Given the description of an element on the screen output the (x, y) to click on. 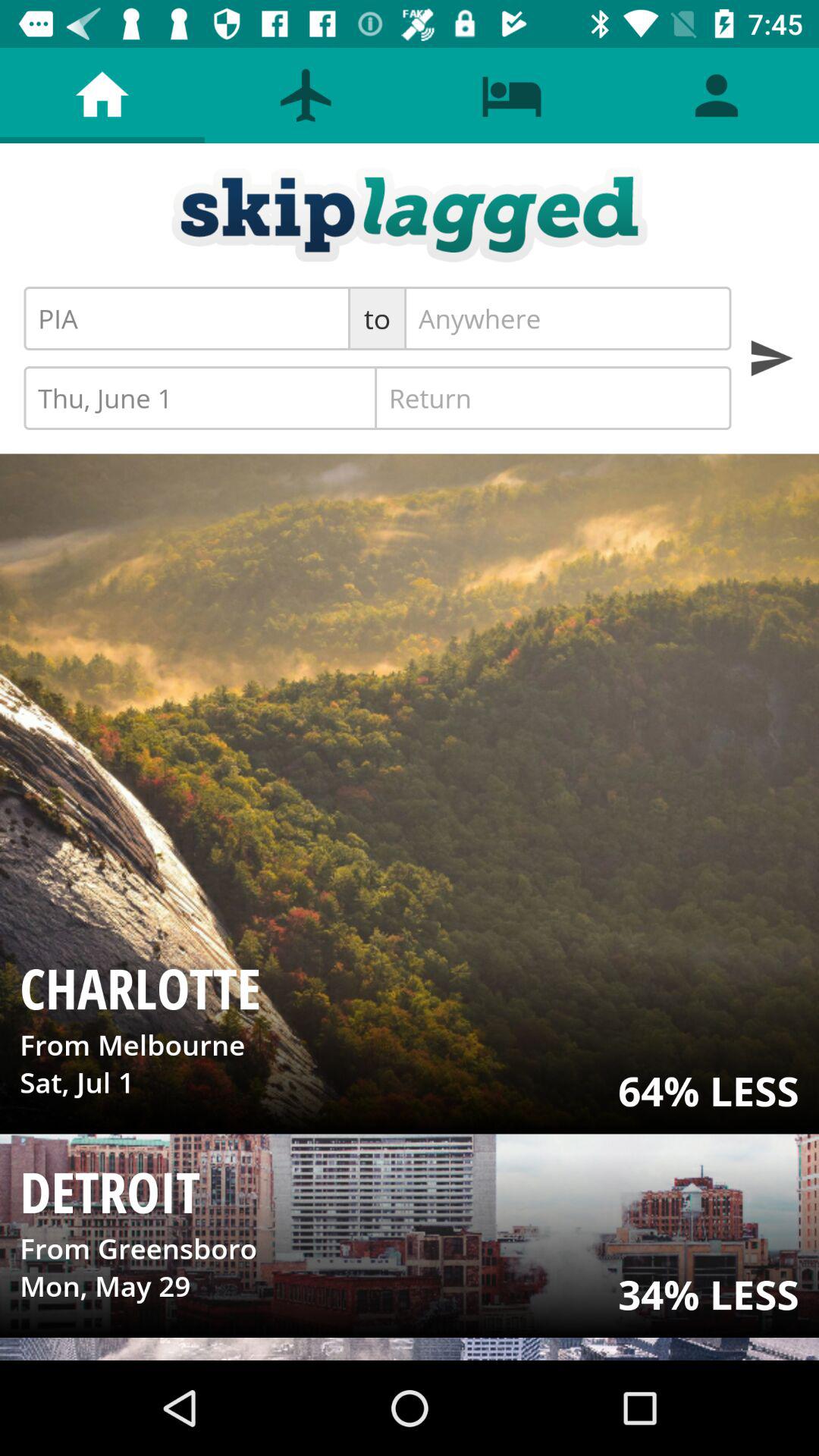
choose the icon to the right of thu, june 1 item (553, 397)
